Given the description of an element on the screen output the (x, y) to click on. 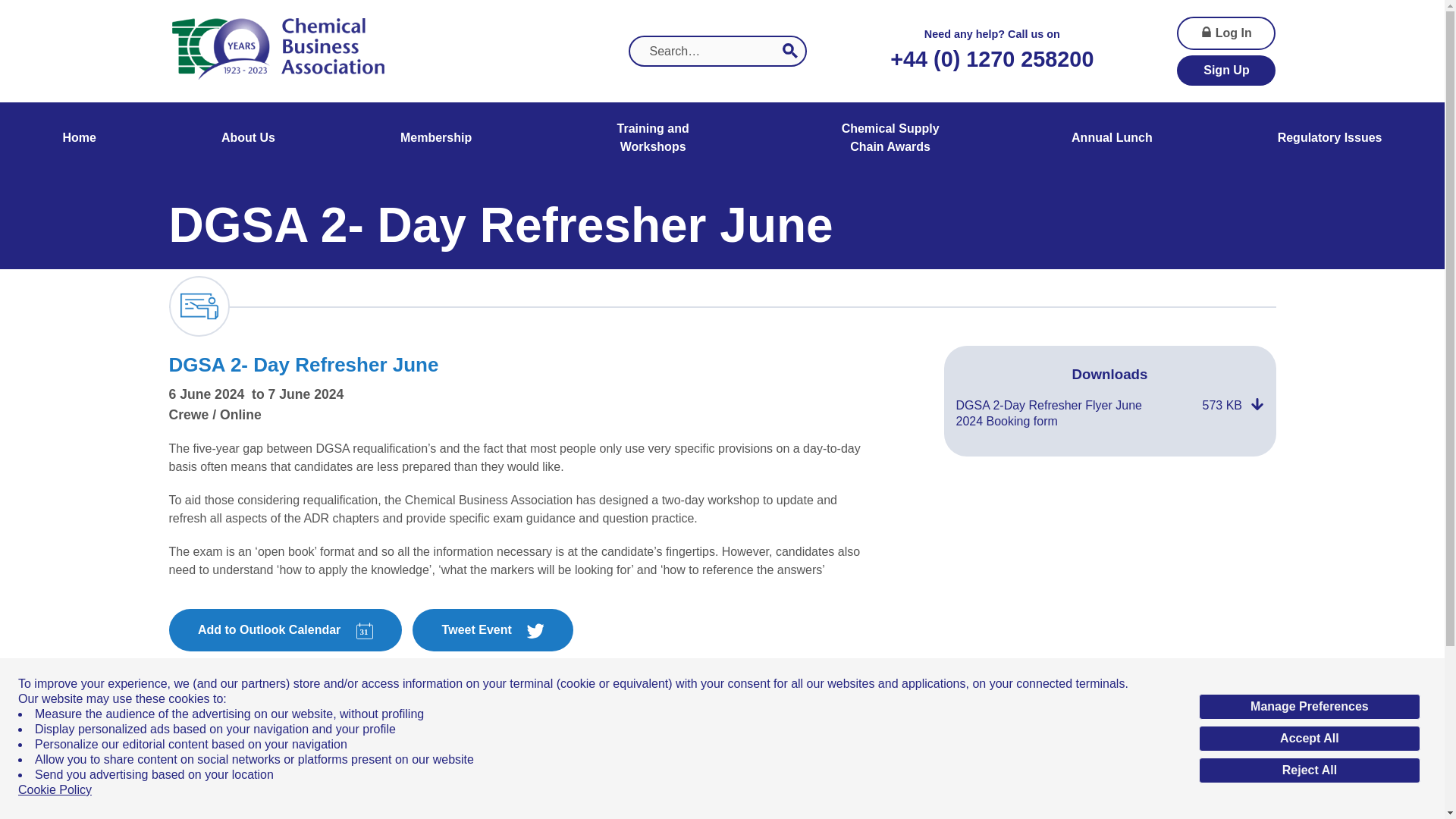
Training and Workshops (652, 137)
About Us (247, 137)
Twitter icon (535, 630)
Cookie Policy (54, 789)
Manage Preferences (1309, 706)
Regulatory Issues (1329, 137)
Home (79, 137)
Accept All (1309, 738)
Membership (435, 137)
Chemical Supply Chain Awards (890, 137)
